Given the description of an element on the screen output the (x, y) to click on. 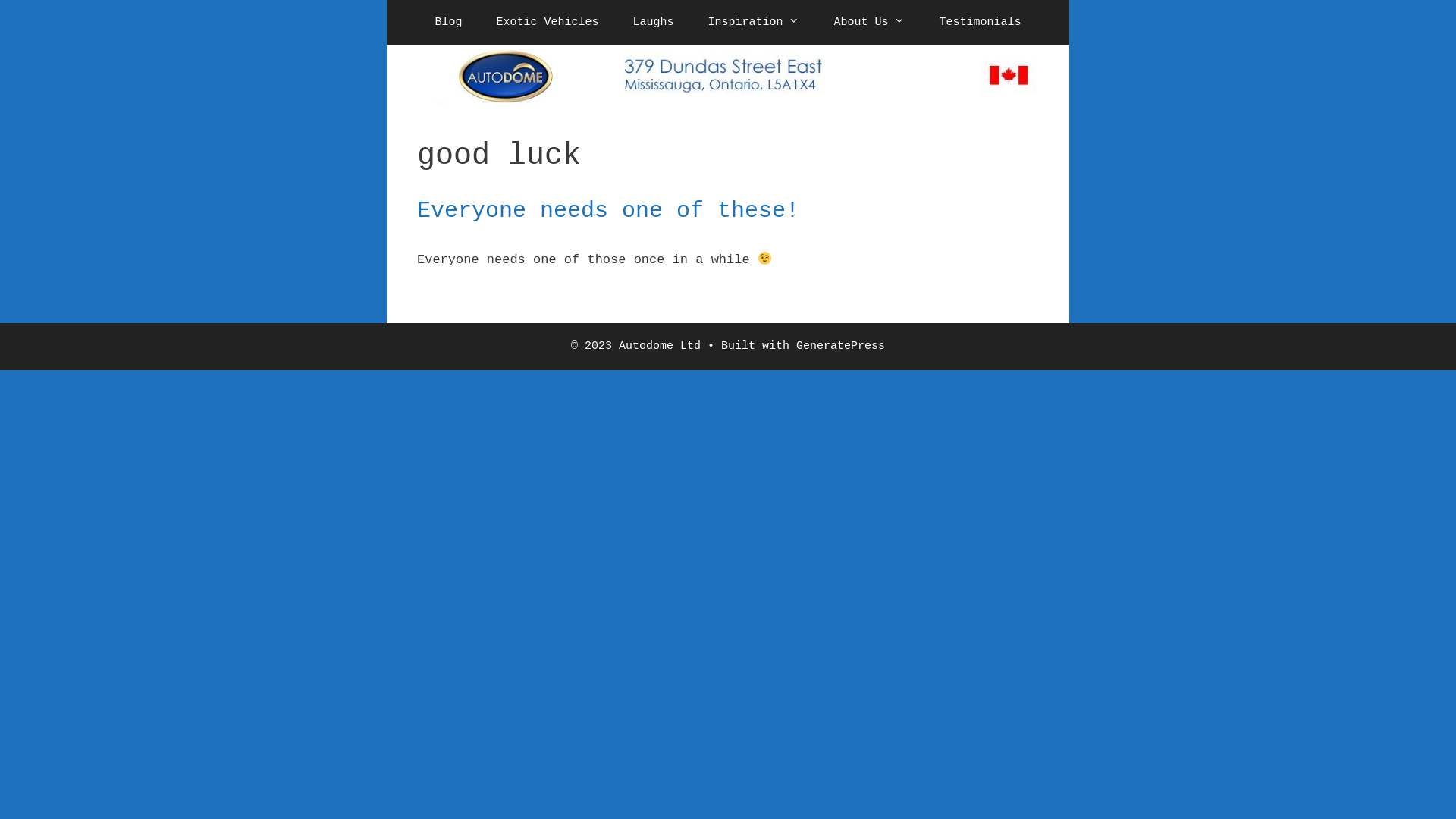
GeneratePress Element type: text (840, 345)
Inspiration Element type: text (753, 22)
Blog Element type: text (448, 22)
Exotic Vehicles Element type: text (547, 22)
Testimonials Element type: text (979, 22)
Everyone needs one of these! Element type: text (608, 210)
About Us Element type: text (868, 22)
Laughs Element type: text (652, 22)
